Given the description of an element on the screen output the (x, y) to click on. 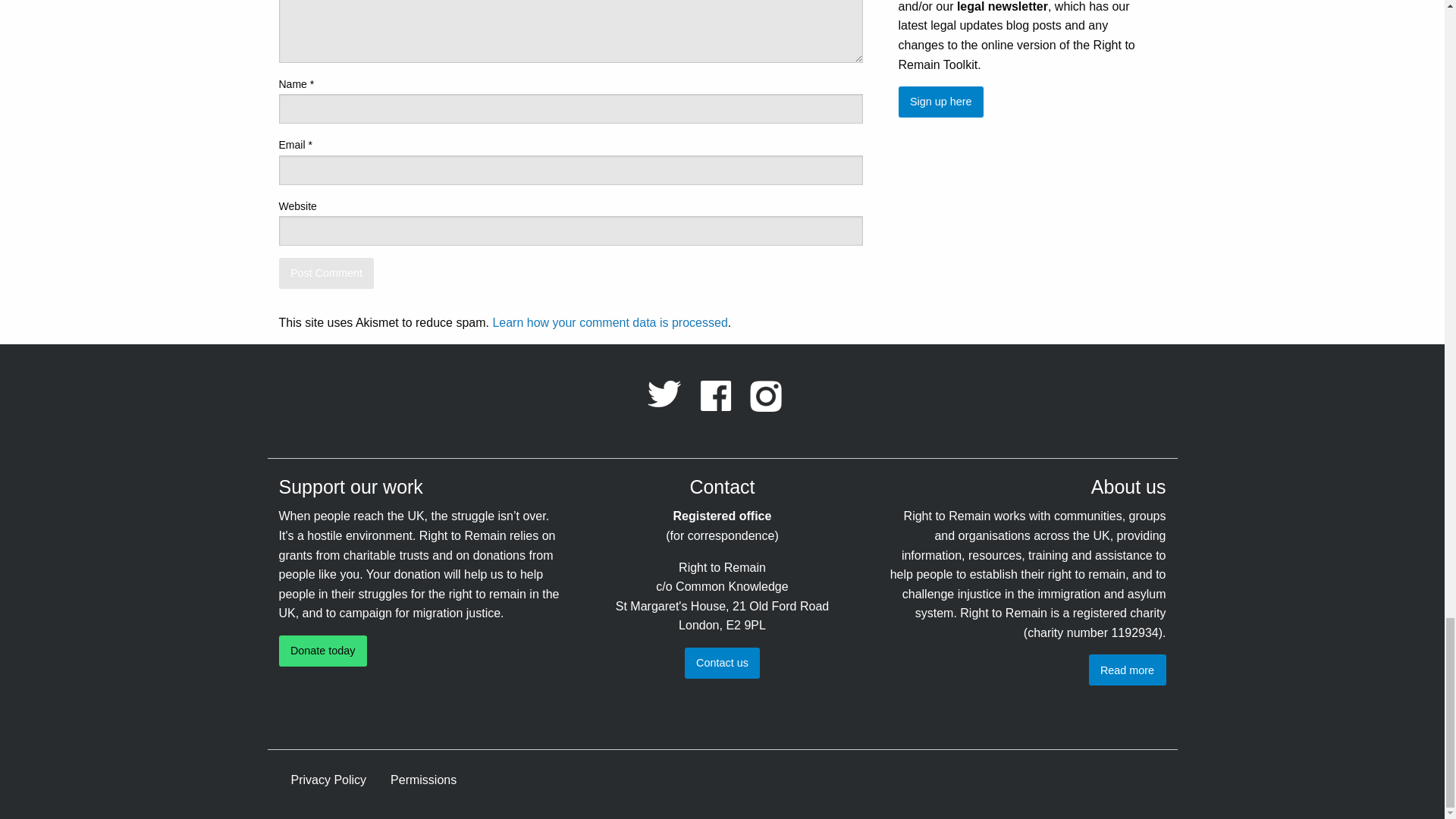
Learn how your comment data is processed (609, 322)
Post Comment (326, 273)
Post Comment (326, 273)
